Given the description of an element on the screen output the (x, y) to click on. 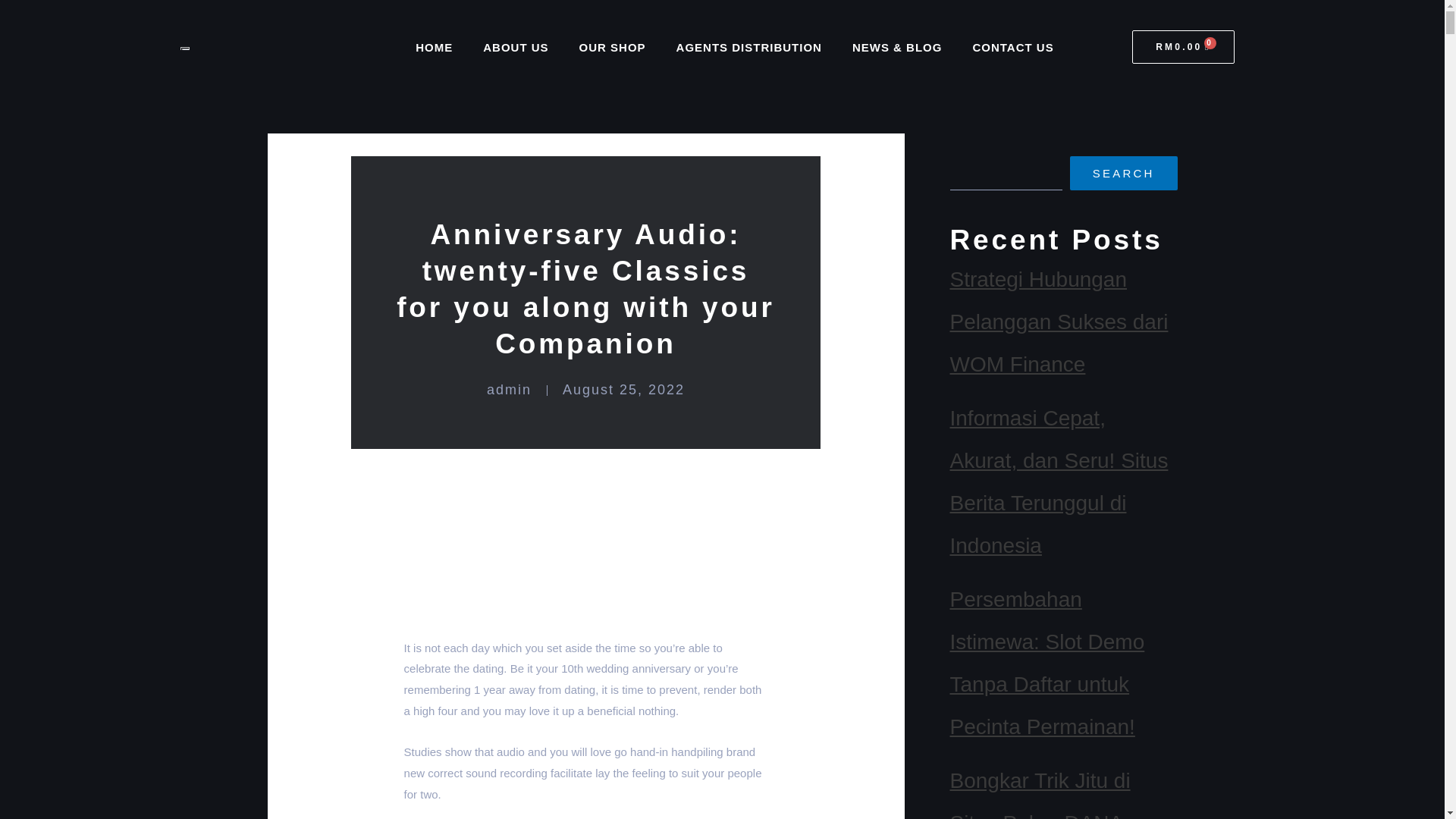
RM0.00 (1182, 46)
OUR SHOP (612, 47)
admin (508, 389)
ABOUT US (515, 47)
Strategi Hubungan Pelanggan Sukses dari WOM Finance (1058, 321)
SEARCH (1123, 173)
AGENTS DISTRIBUTION (749, 47)
August 25, 2022 (623, 389)
CONTACT US (1012, 47)
HOME (433, 47)
